Given the description of an element on the screen output the (x, y) to click on. 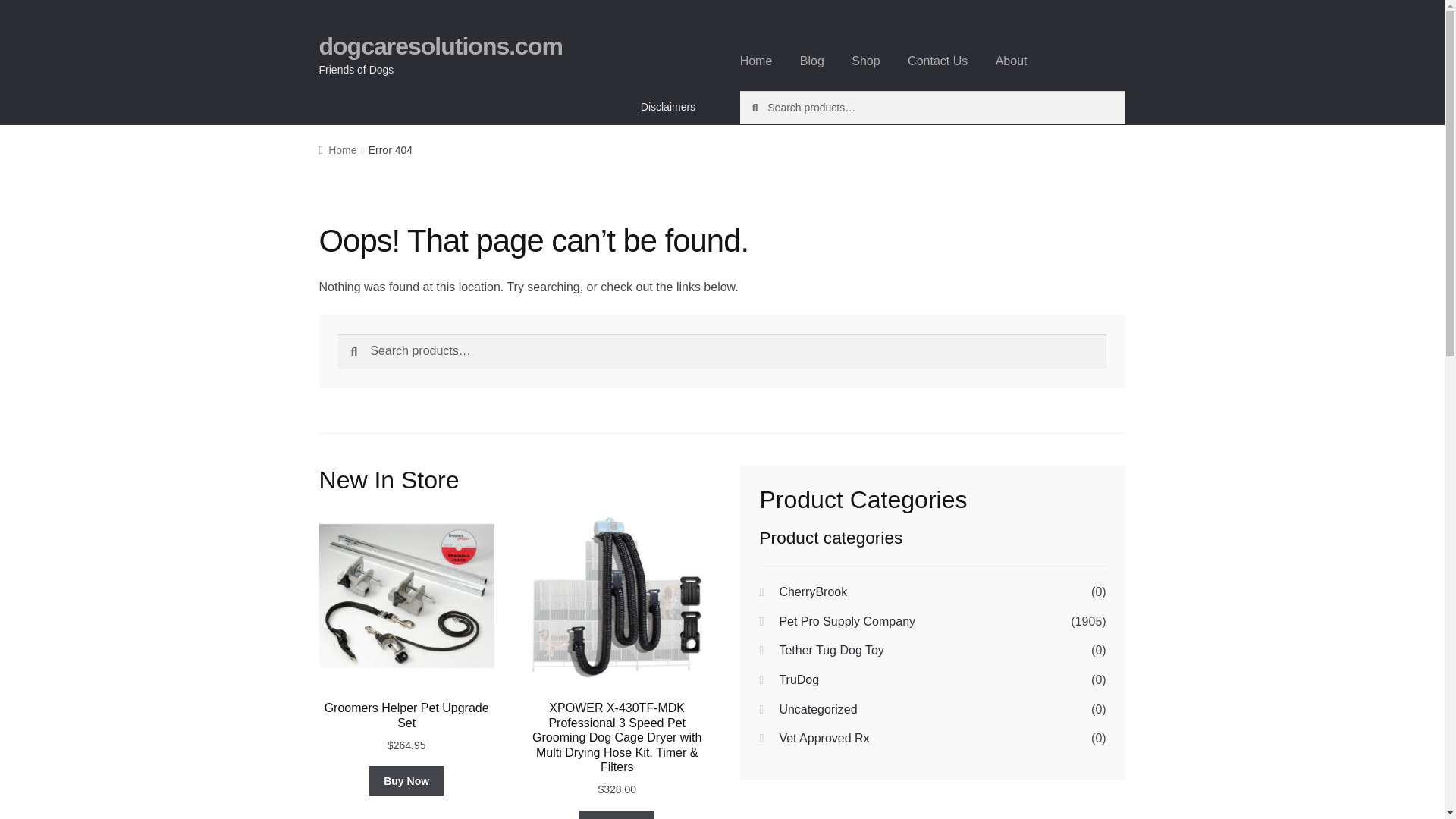
Pet Pro Supply Company (846, 621)
Home (337, 150)
Tether Tug Dog Toy (830, 649)
About (1011, 60)
Disclaimers (667, 106)
TruDog (798, 679)
Uncategorized (817, 708)
Buy Now (406, 780)
CherryBrook (812, 591)
Vet Approved Rx (823, 738)
Contact Us (937, 60)
dogcaresolutions.com (440, 45)
Buy Now (617, 814)
